Given the description of an element on the screen output the (x, y) to click on. 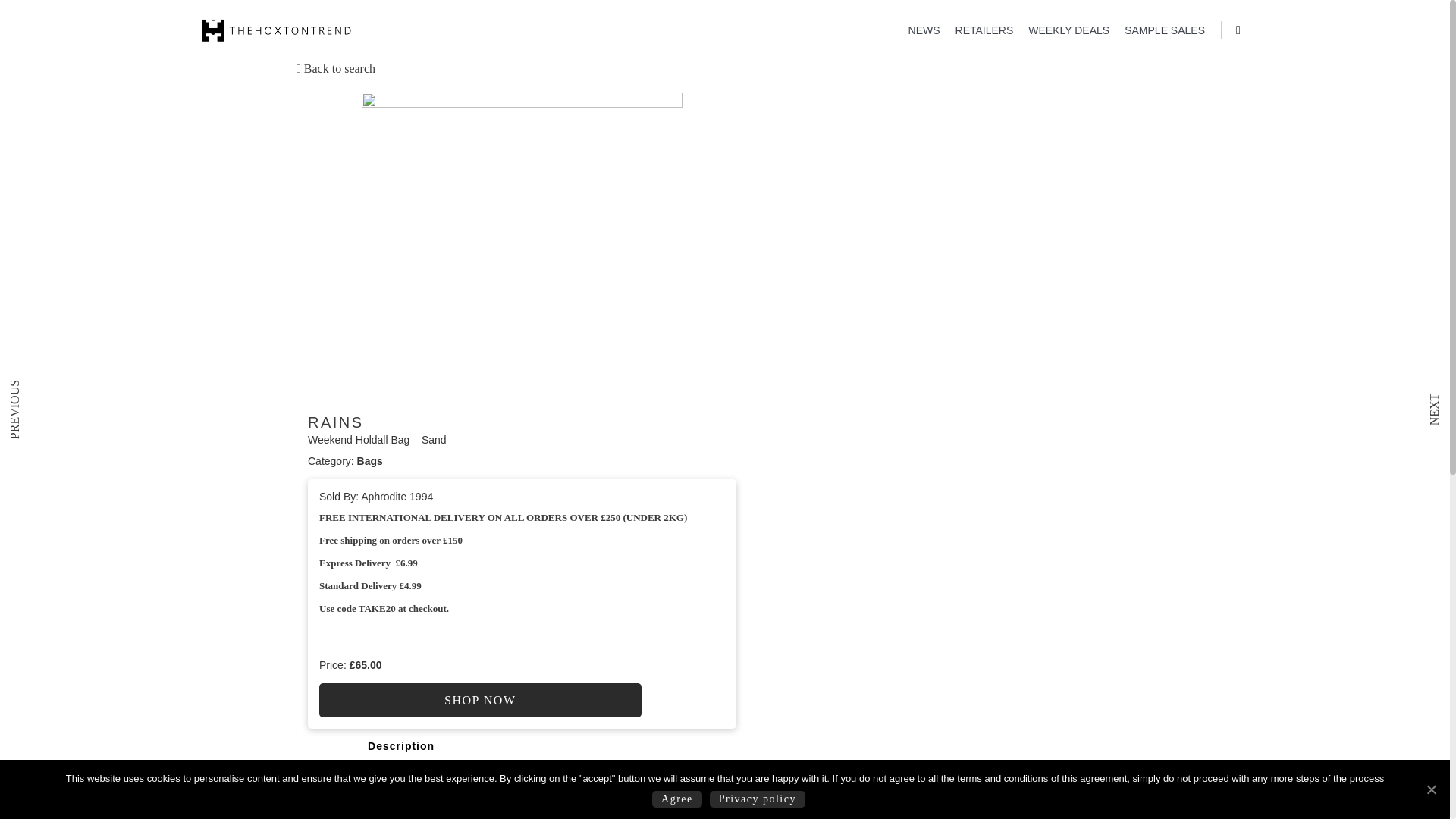
SAMPLE SALES (1157, 30)
WEEKLY DEALS (1061, 30)
Bags (369, 460)
RETAILERS (976, 30)
SHOP NOW (480, 700)
Weekend Holdall Bag - Sand (521, 253)
